Given the description of an element on the screen output the (x, y) to click on. 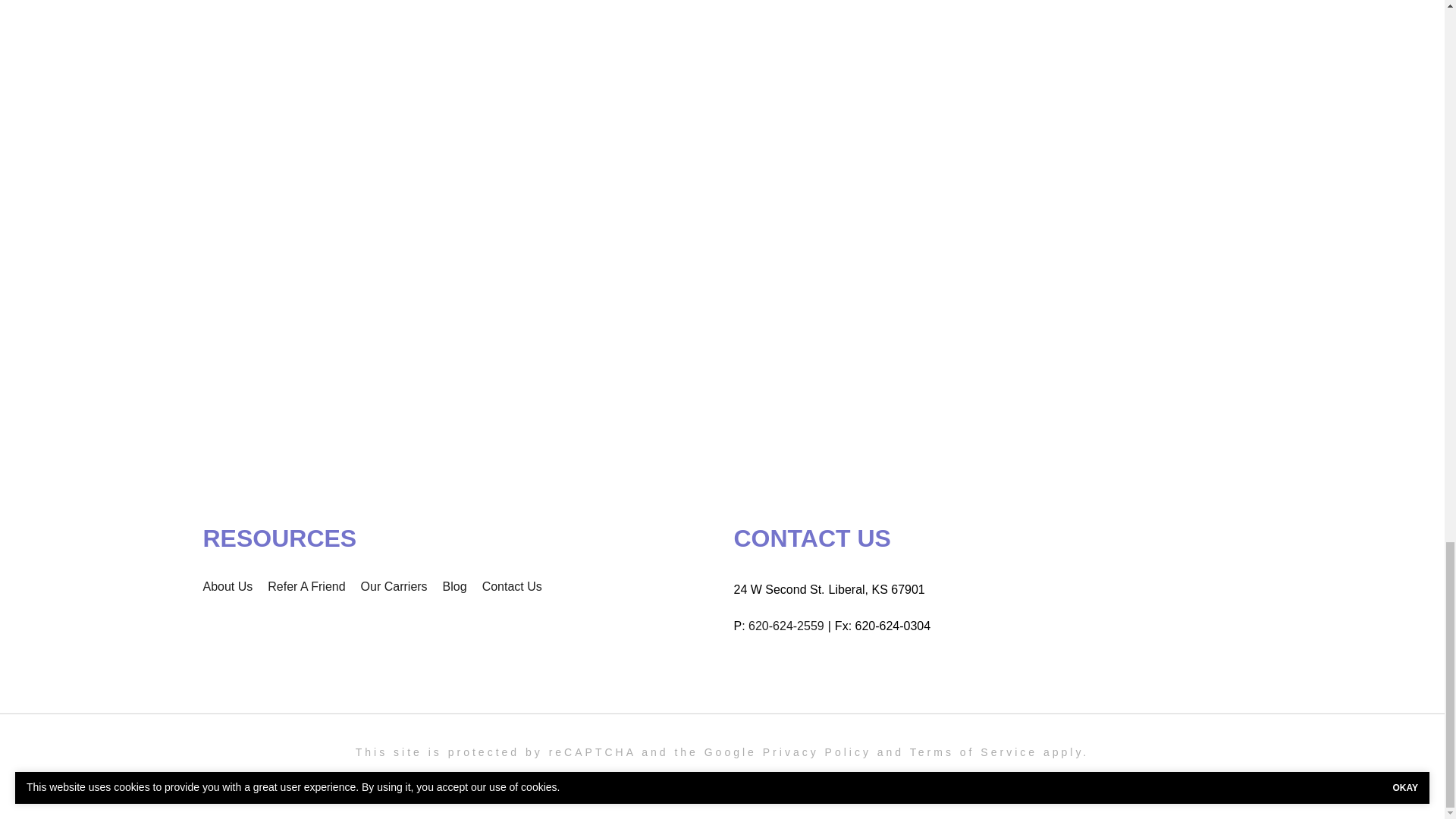
Insurance Website Builder (880, 779)
